Given the description of an element on the screen output the (x, y) to click on. 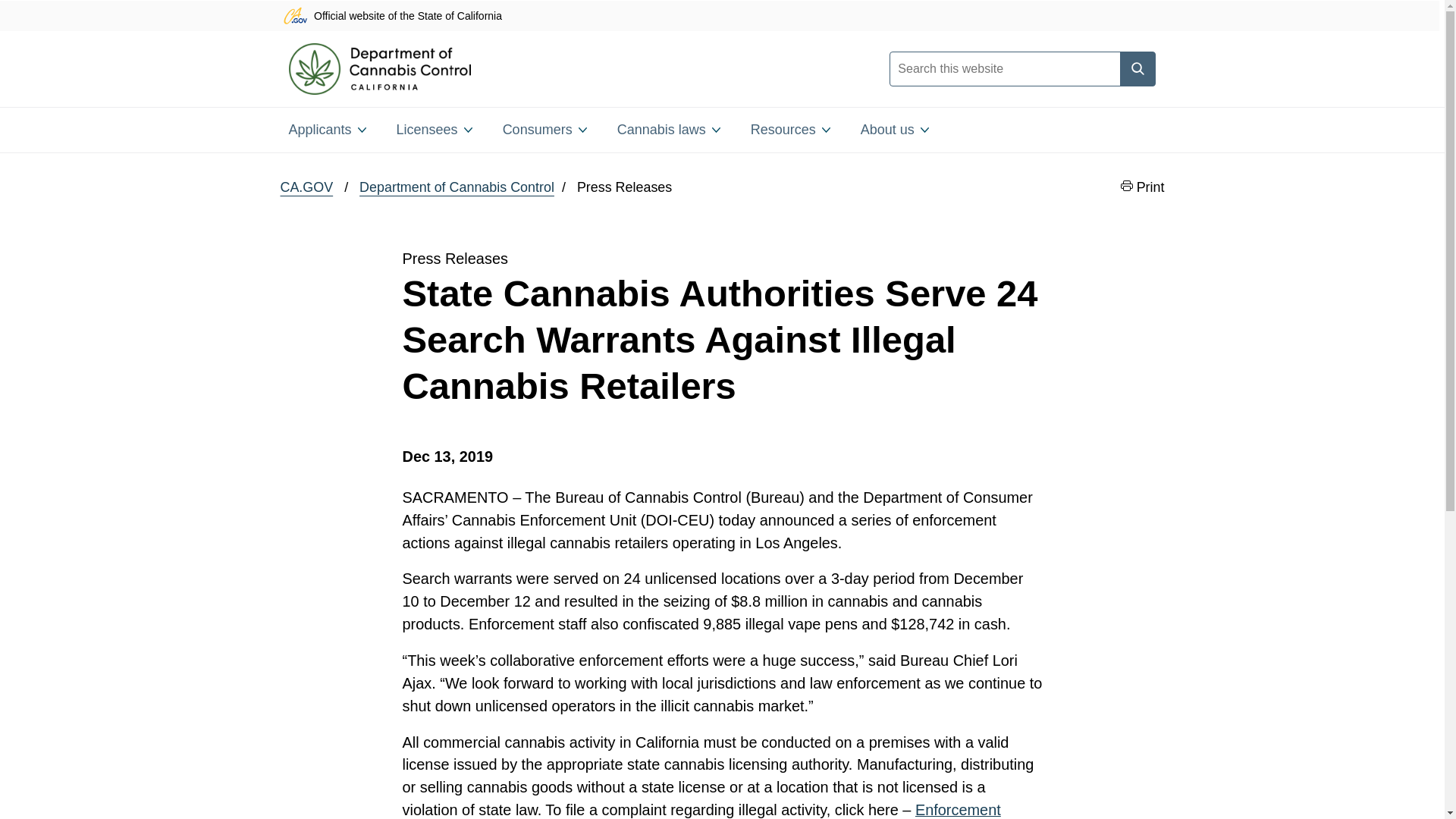
Department of Cannabis Control (456, 187)
Applicants (326, 129)
Resources (790, 129)
CA.GOV (307, 187)
ca.gov logo (294, 15)
Cannabis laws (668, 129)
Consumers (544, 129)
Licensees (434, 129)
